Given the description of an element on the screen output the (x, y) to click on. 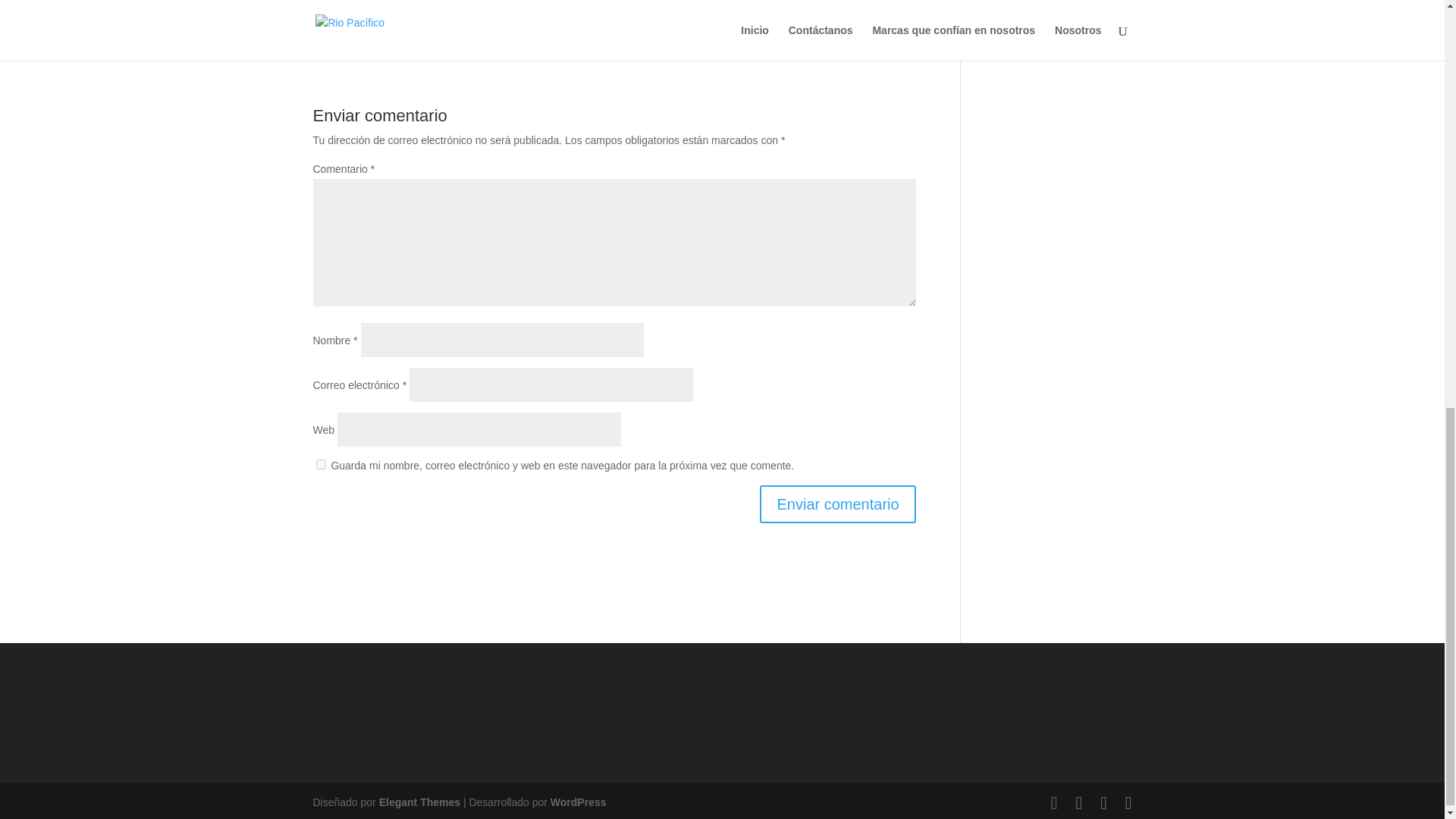
yes (319, 464)
Elegant Themes (419, 802)
Premium WordPress Themes (419, 802)
Enviar comentario (837, 504)
Enviar comentario (837, 504)
WordPress (578, 802)
